Given the description of an element on the screen output the (x, y) to click on. 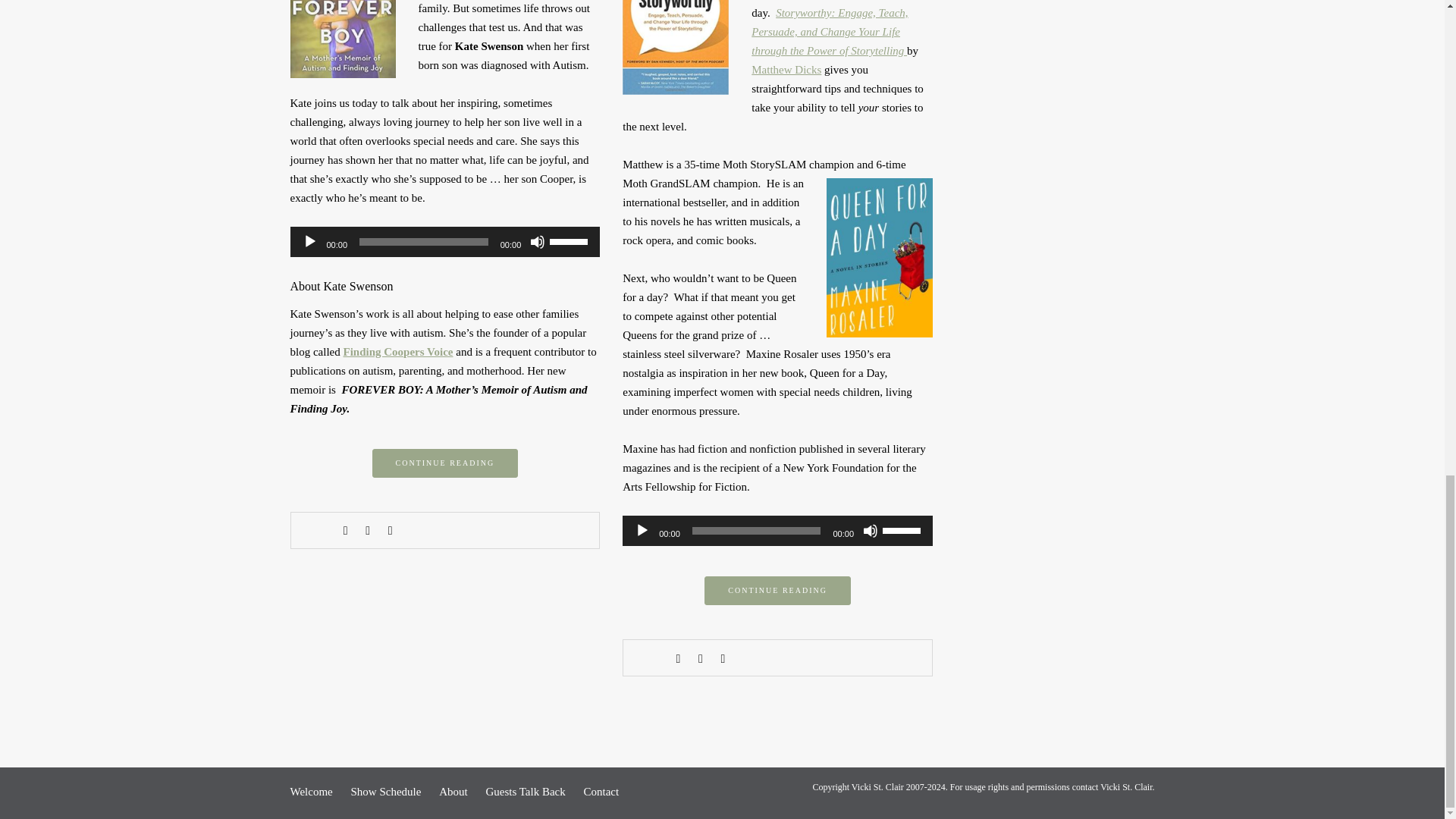
Share this (677, 658)
Play (309, 241)
Mute (536, 241)
Pin this (390, 530)
Finding Coopers Voice (397, 351)
CONTINUE READING (445, 462)
Mute (870, 530)
Tweet this (700, 658)
Tweet this (367, 530)
Share this (345, 530)
